Given the description of an element on the screen output the (x, y) to click on. 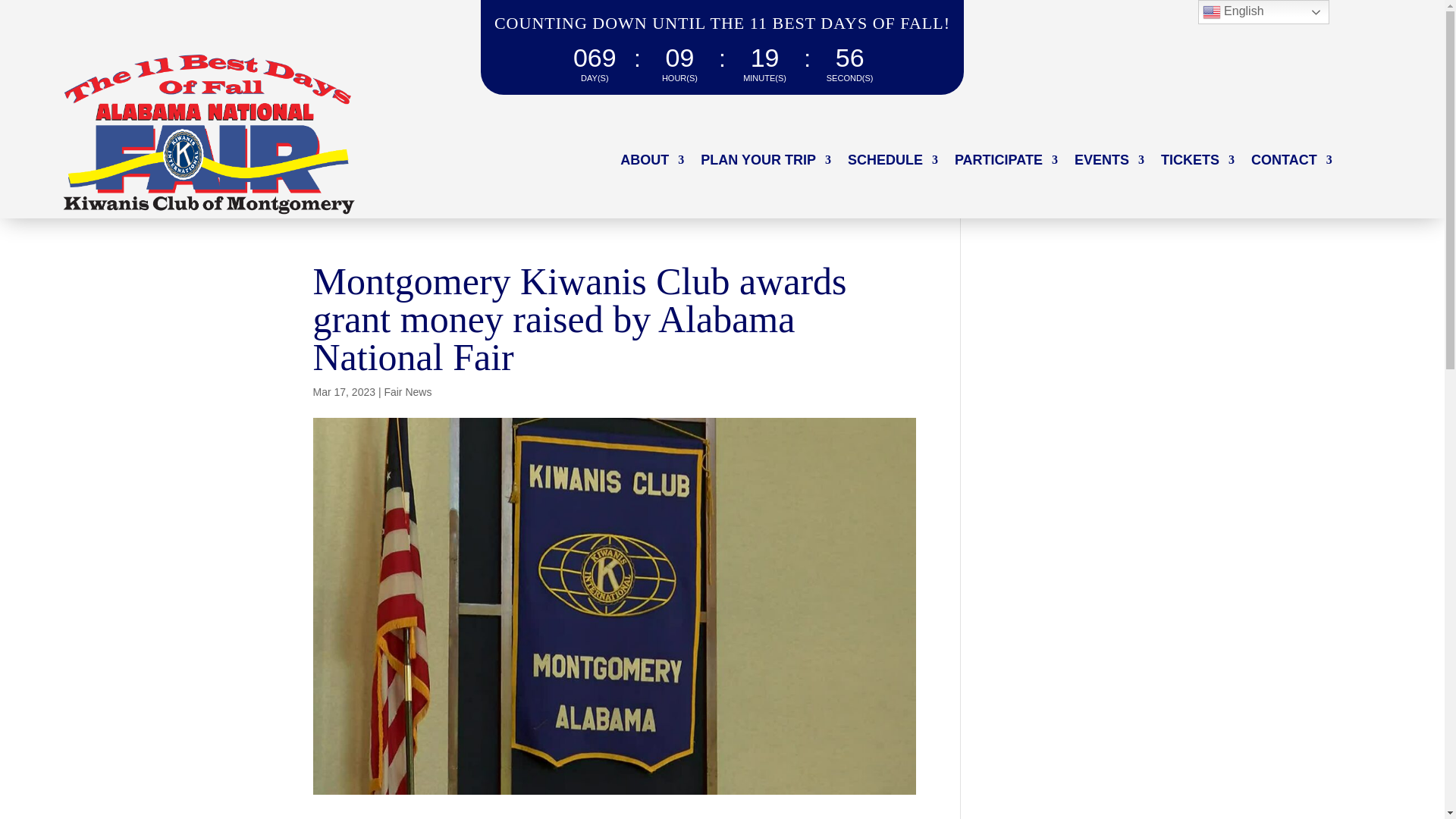
SCHEDULE (892, 162)
EVENTS (1109, 162)
CONTACT (1291, 162)
PLAN YOUR TRIP (765, 162)
ABOUT (652, 162)
PARTICIPATE (1006, 162)
11 Day of Fair - ANF Logo (211, 136)
TICKETS (1197, 162)
